Given the description of an element on the screen output the (x, y) to click on. 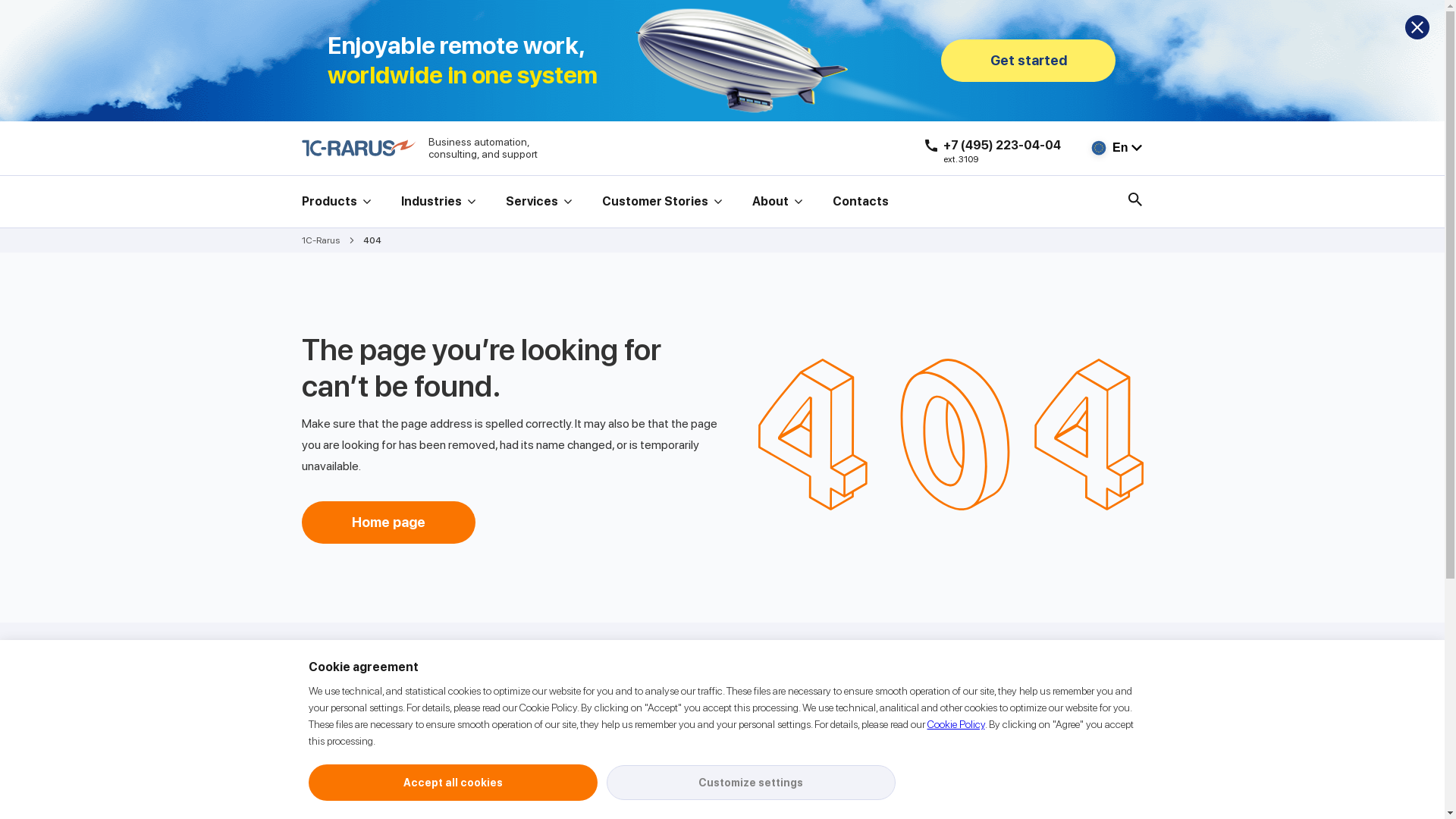
Get started Element type: text (1028, 60)
Services Element type: text (538, 201)
Customer Stories Element type: text (661, 201)
+7 (495) 223-04-04
ext. 3109 Element type: text (992, 145)
Go to main Element type: hover (358, 147)
Products Element type: text (335, 201)
Contacts Element type: text (860, 201)
Customize settings Element type: text (750, 782)
Industries Element type: text (437, 201)
About Element type: text (777, 201)
Accept all cookies Element type: text (451, 782)
Cookie Policy Element type: text (955, 724)
1C-Rarus Element type: text (332, 240)
Contact us Element type: text (664, 758)
En Element type: text (1115, 147)
Home page Element type: text (388, 522)
